Given the description of an element on the screen output the (x, y) to click on. 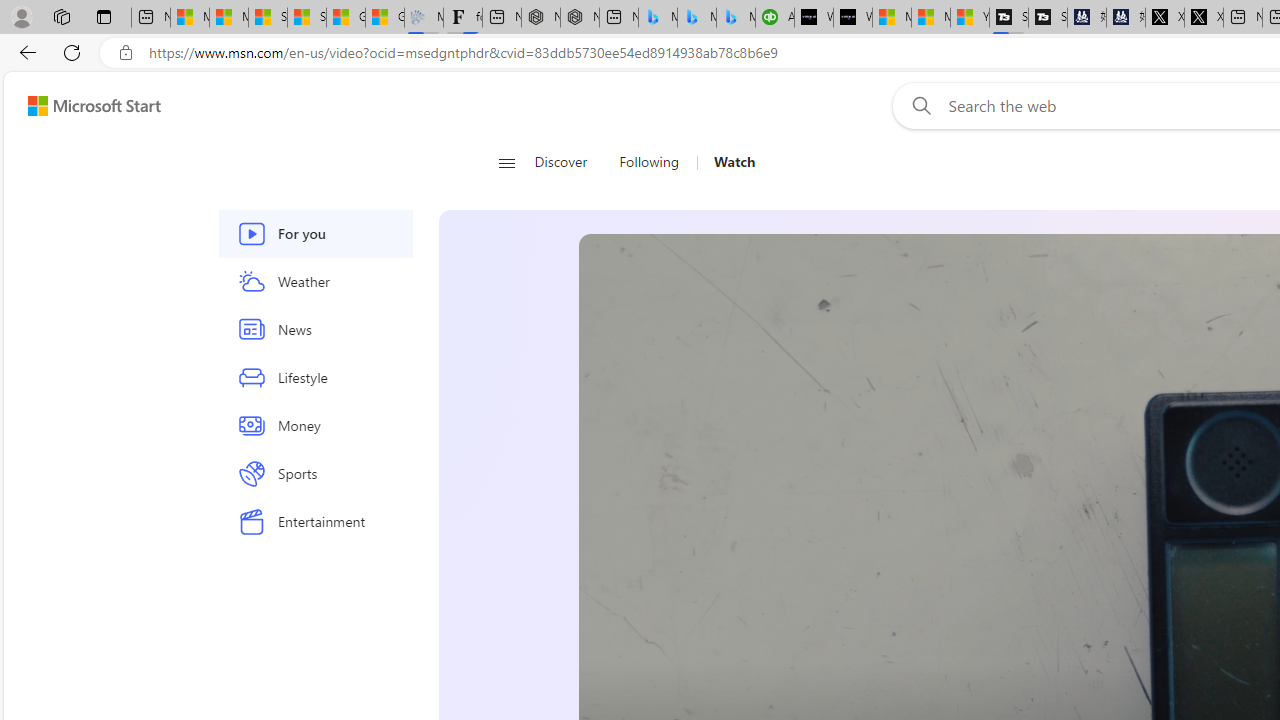
Class: button-glyph (505, 162)
Skip to footer (82, 105)
Accounting Software for Accountants, CPAs and Bookkeepers (774, 17)
